Given the description of an element on the screen output the (x, y) to click on. 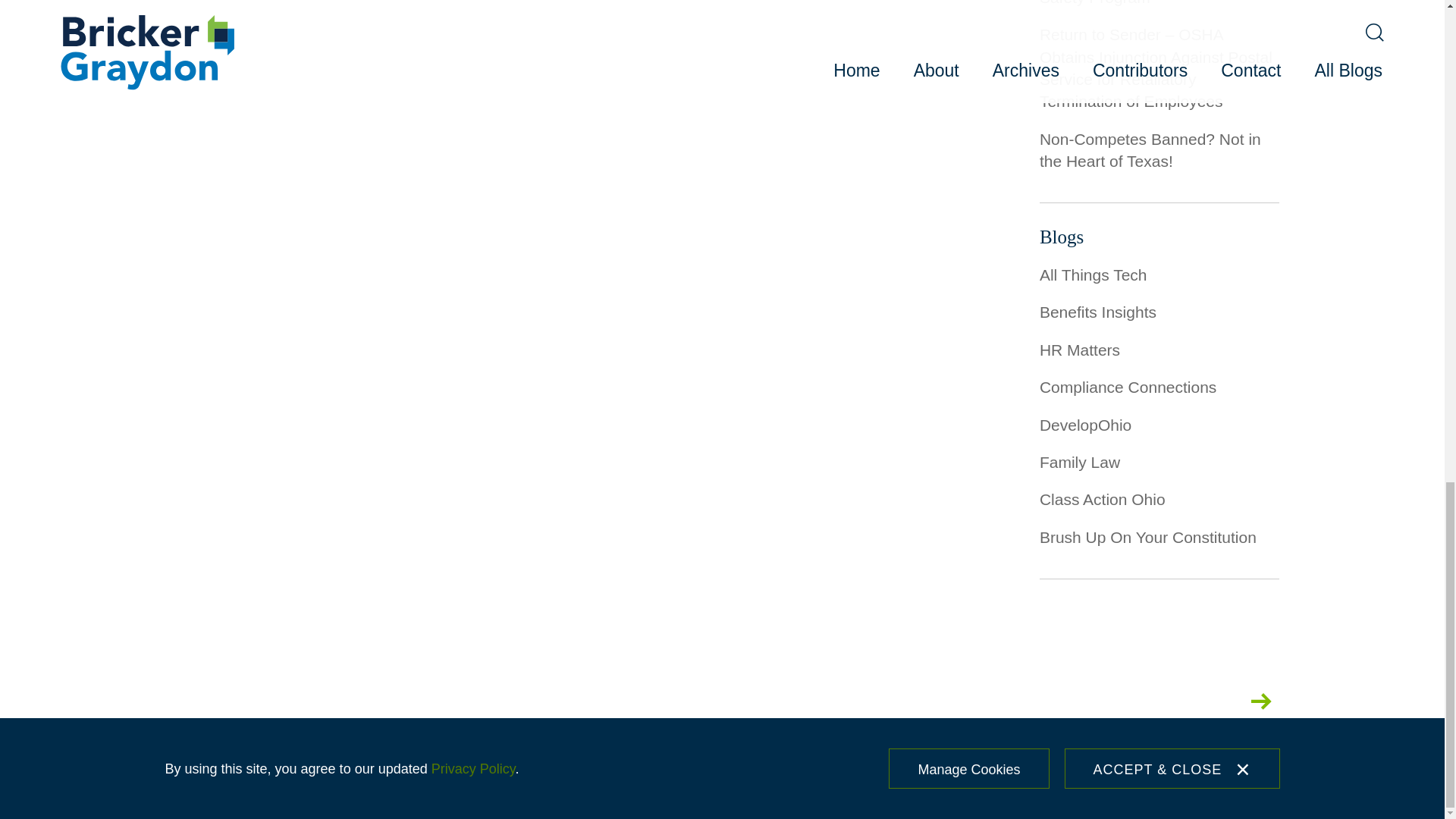
Class Action Ohio (1102, 498)
Family Law (1079, 461)
Brush Up On Your Constitution (1147, 537)
Compliance Connections (1127, 386)
Youtube (1213, 700)
Benefits Insights (1097, 312)
Instagram (1075, 700)
Linkedin (1164, 700)
Twitter (1026, 700)
All Things Tech (1093, 274)
